Given the description of an element on the screen output the (x, y) to click on. 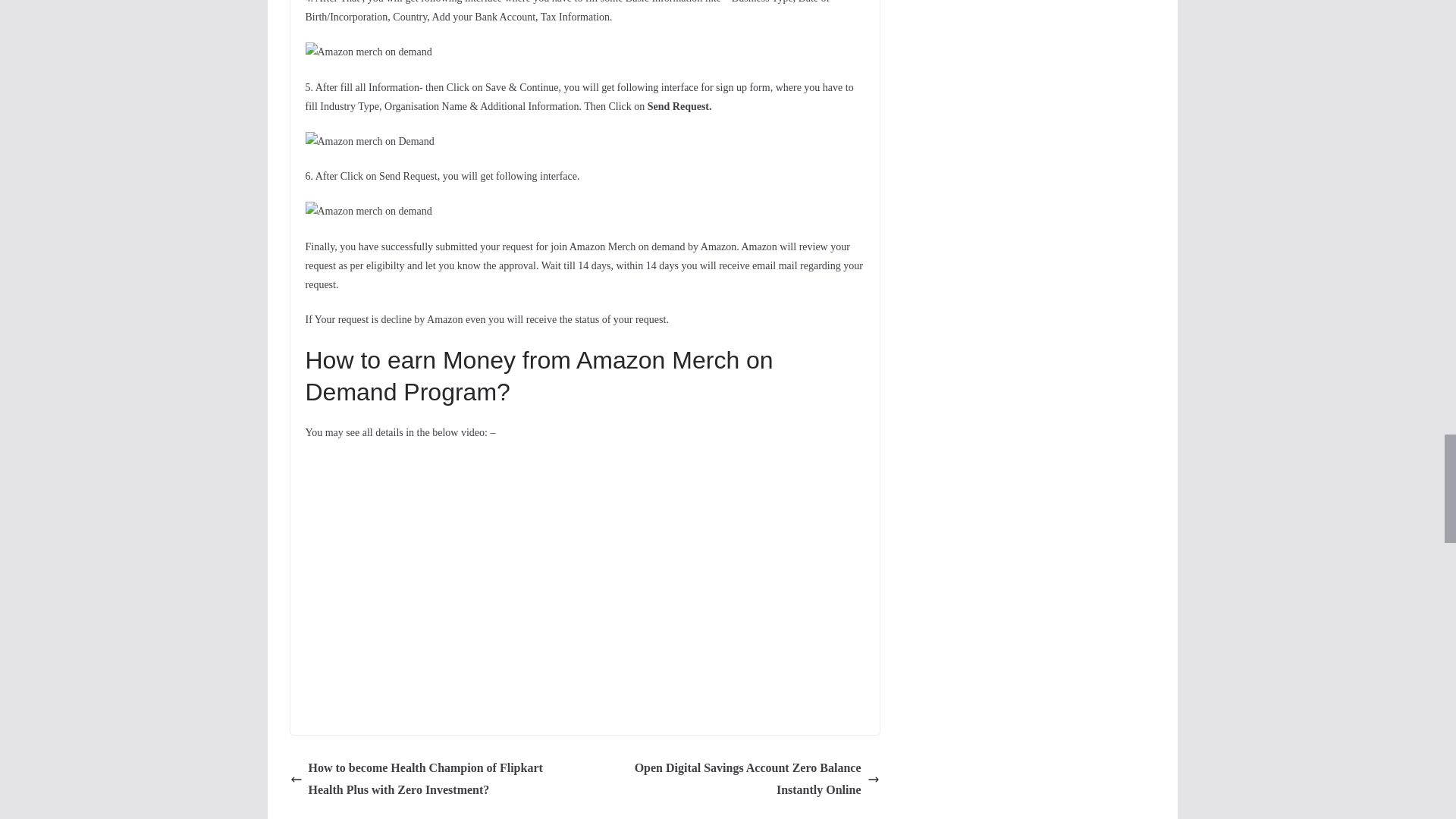
YouTube video player (516, 577)
